Given the description of an element on the screen output the (x, y) to click on. 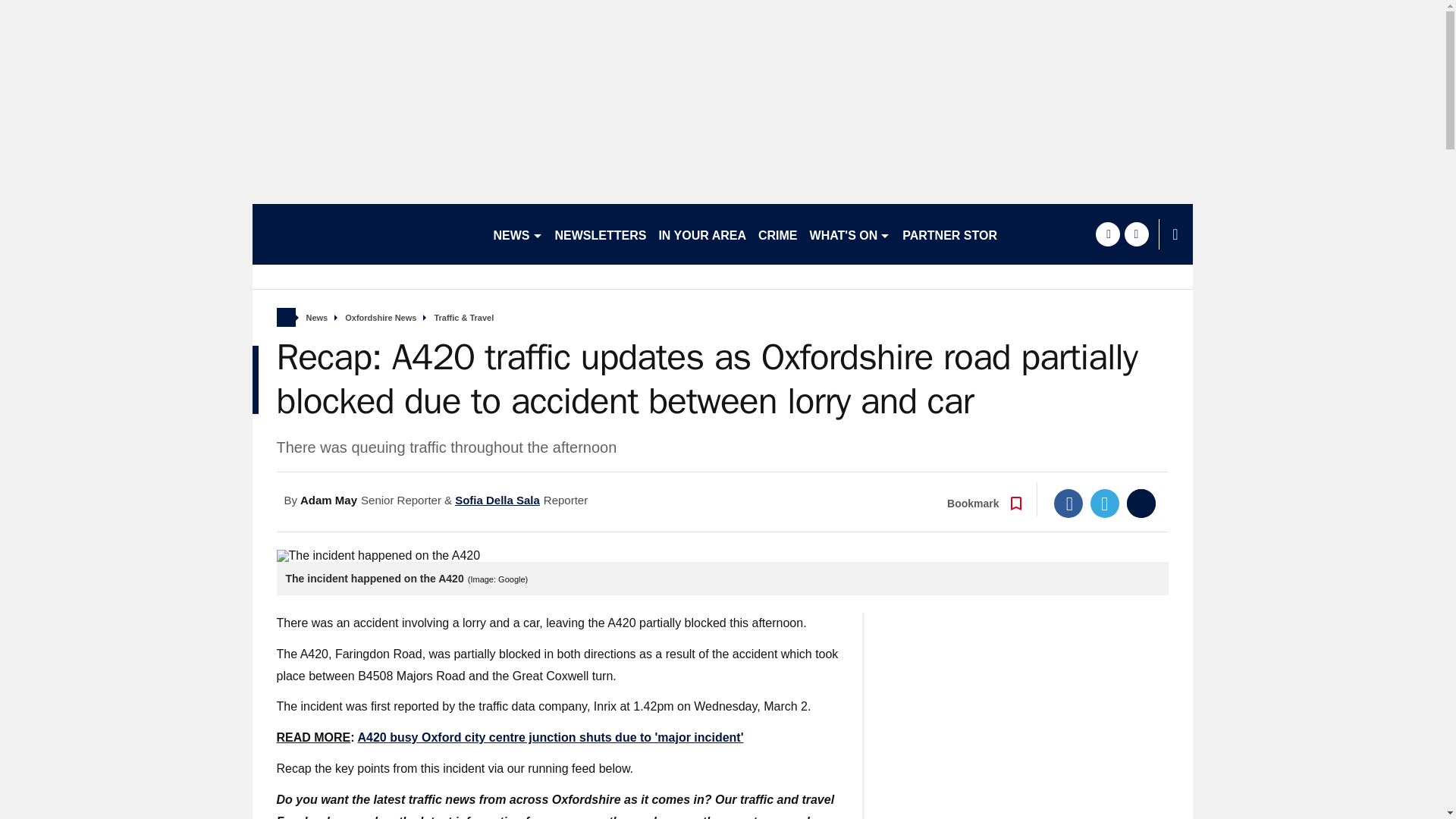
twitter (1136, 233)
IN YOUR AREA (702, 233)
Facebook (1068, 502)
oxfordshirelive (365, 233)
WHAT'S ON (849, 233)
PARTNER STORIES (959, 233)
facebook (1106, 233)
Twitter (1104, 502)
NEWSLETTERS (600, 233)
NEWS (517, 233)
